Given the description of an element on the screen output the (x, y) to click on. 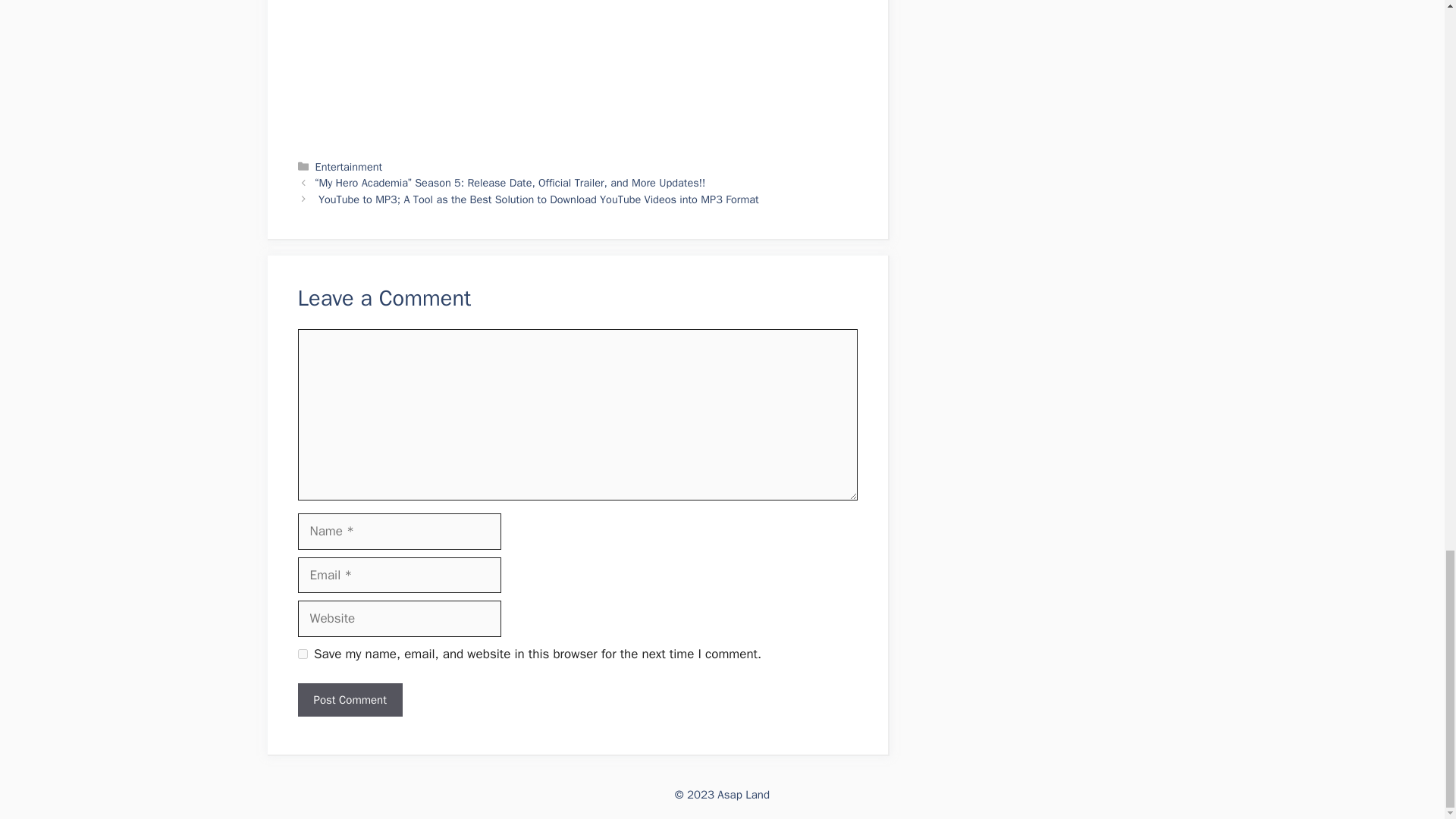
Entertainment (348, 166)
Post Comment (349, 700)
Post Comment (349, 700)
yes (302, 654)
